Given the description of an element on the screen output the (x, y) to click on. 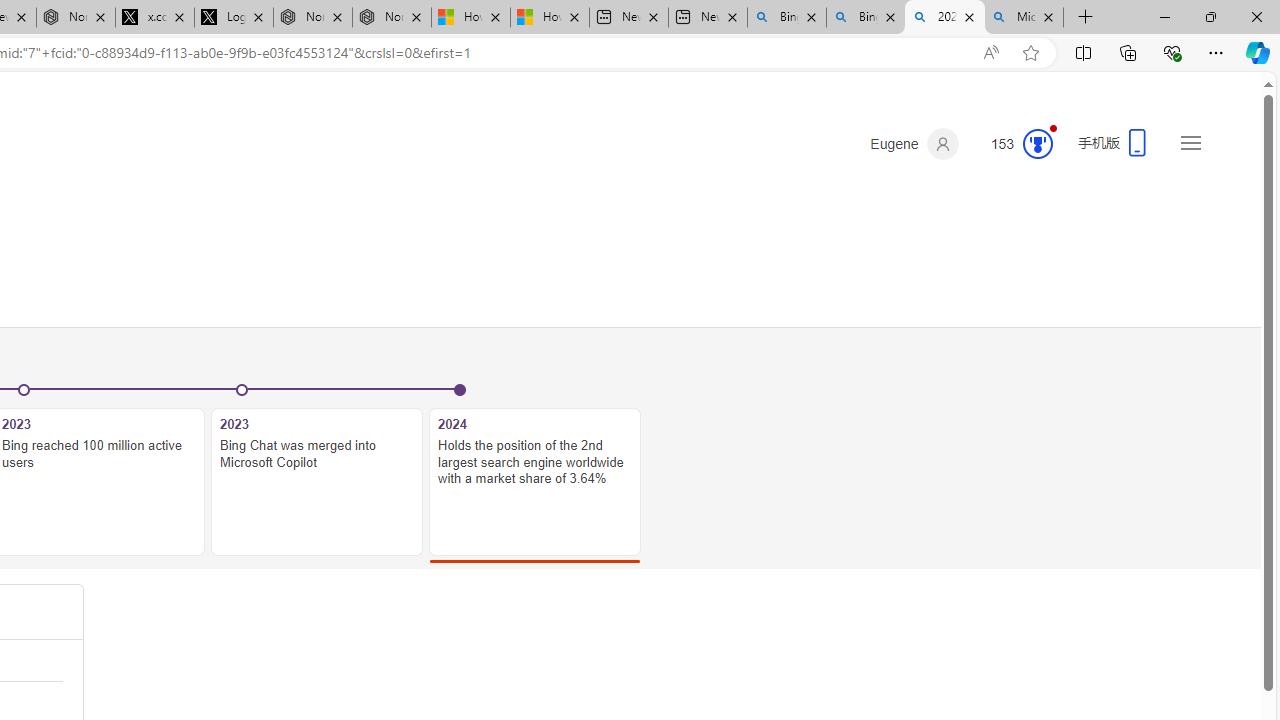
2023Bing Chat was merged into Microsoft Copilot (317, 471)
How to Use a Monitor With Your Closed Laptop (549, 17)
Eugene (914, 143)
Microsoft Rewards 153 (1014, 143)
Class: medal-circled (1037, 143)
